Given the description of an element on the screen output the (x, y) to click on. 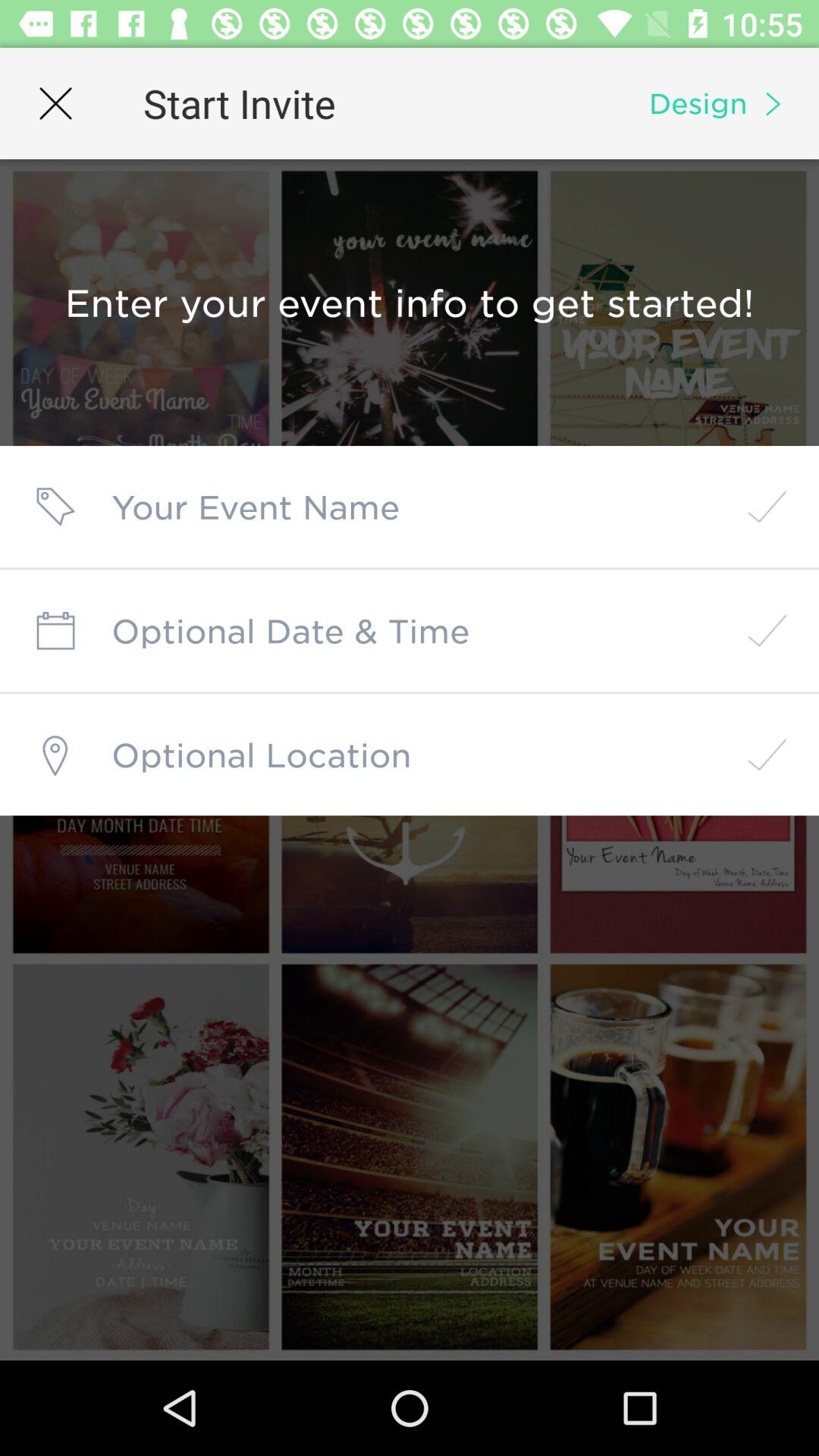
date and time (409, 630)
